Given the description of an element on the screen output the (x, y) to click on. 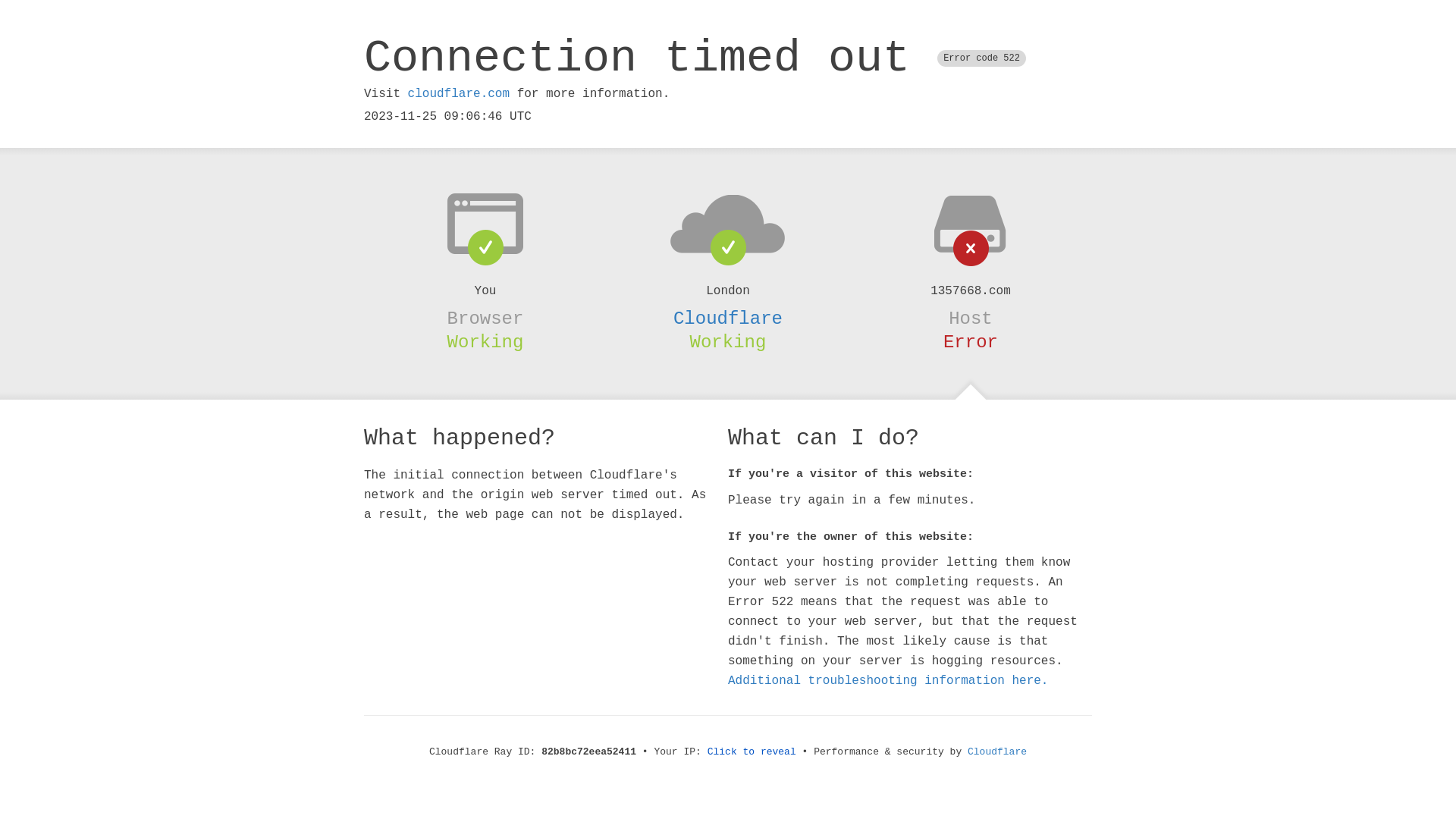
Cloudflare Element type: text (727, 318)
Additional troubleshooting information here. Element type: text (888, 680)
cloudflare.com Element type: text (458, 93)
Cloudflare Element type: text (996, 751)
Click to reveal Element type: text (751, 751)
